Given the description of an element on the screen output the (x, y) to click on. 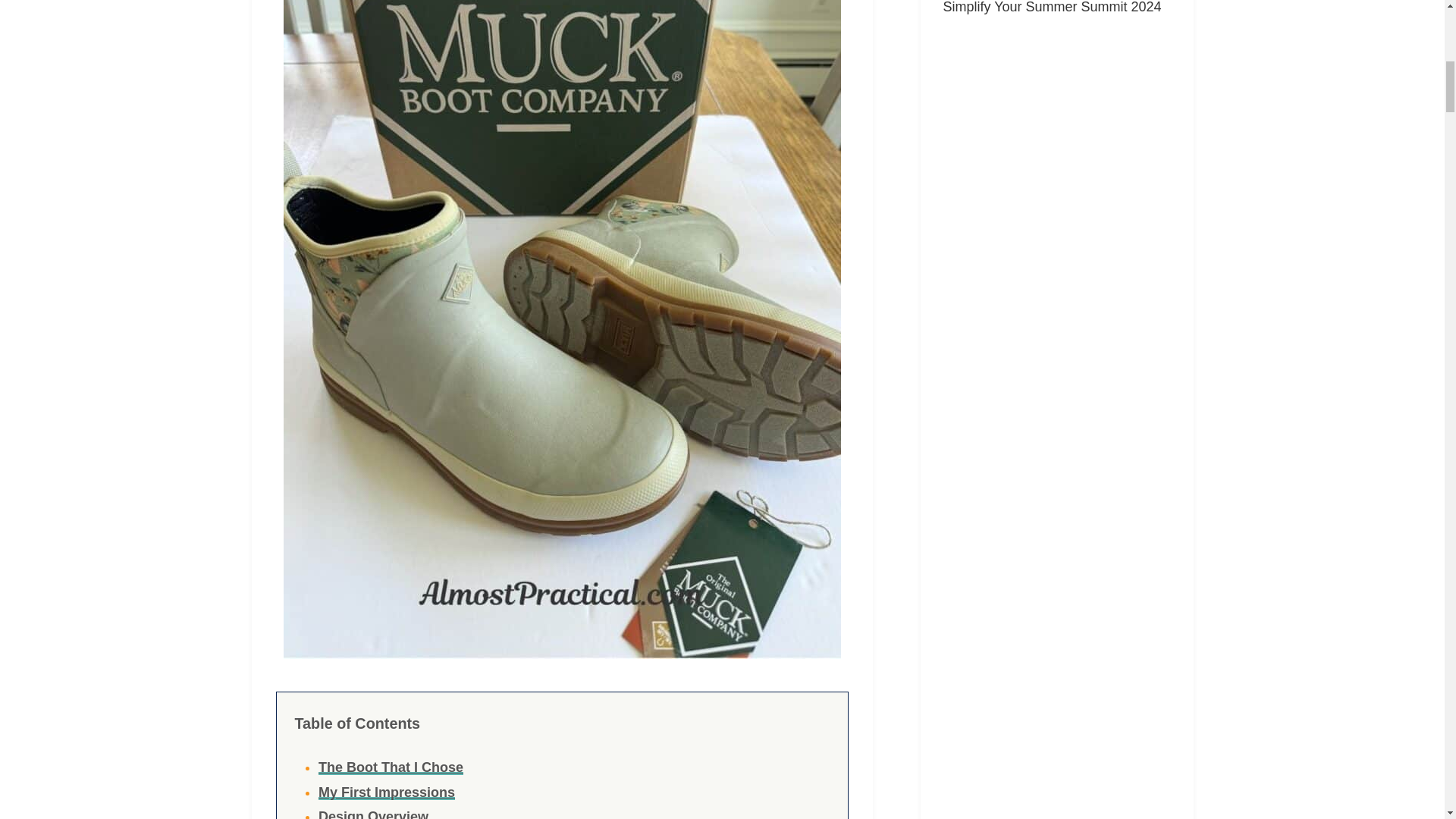
The Boot That I Chose (390, 767)
Design Overview (373, 814)
My First Impressions (386, 792)
